Given the description of an element on the screen output the (x, y) to click on. 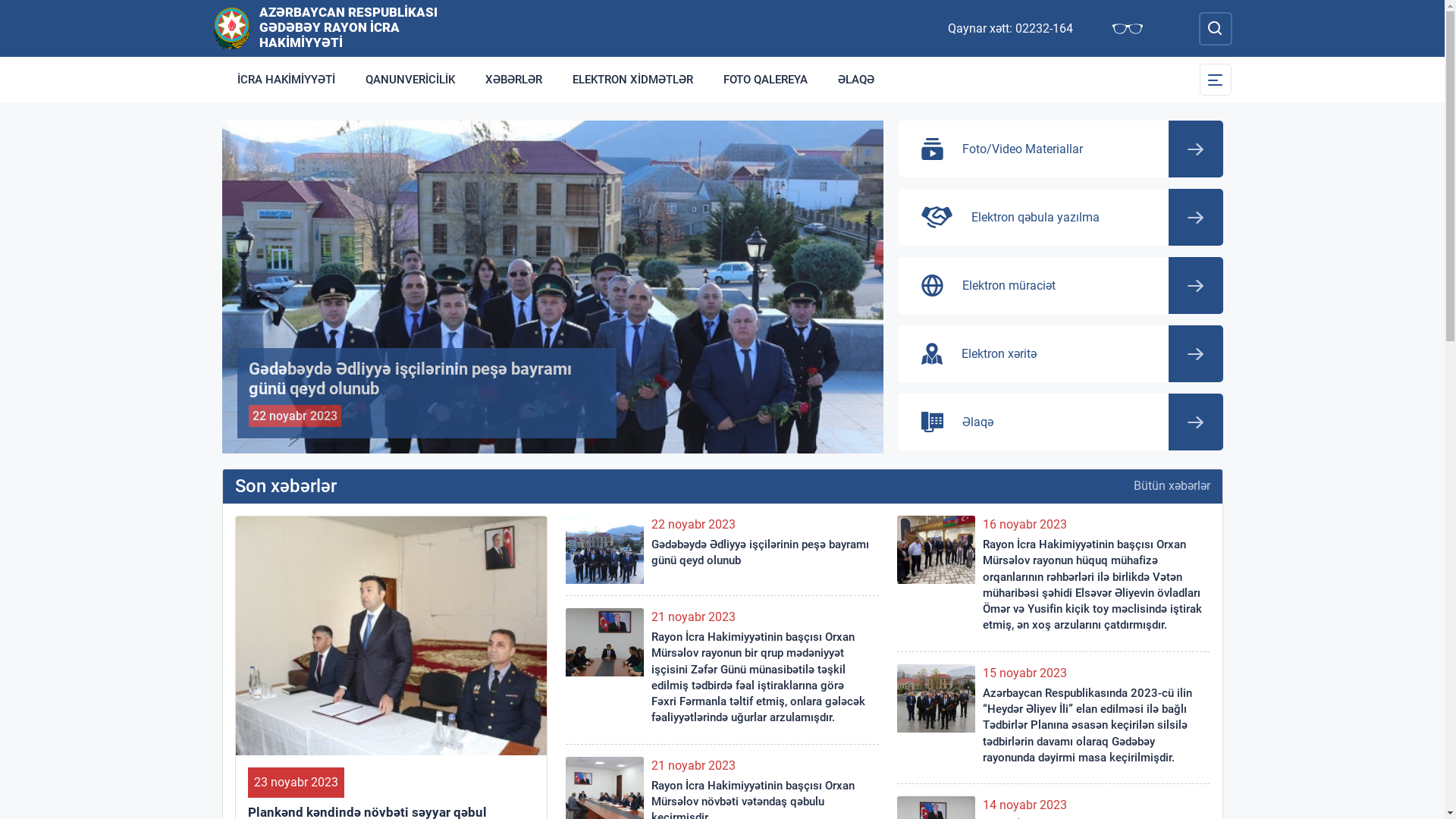
QANUNVERICILIK Element type: text (410, 79)
FOTO QALEREYA Element type: text (765, 79)
Foto/Video Materiallar Element type: text (1059, 148)
